Given the description of an element on the screen output the (x, y) to click on. 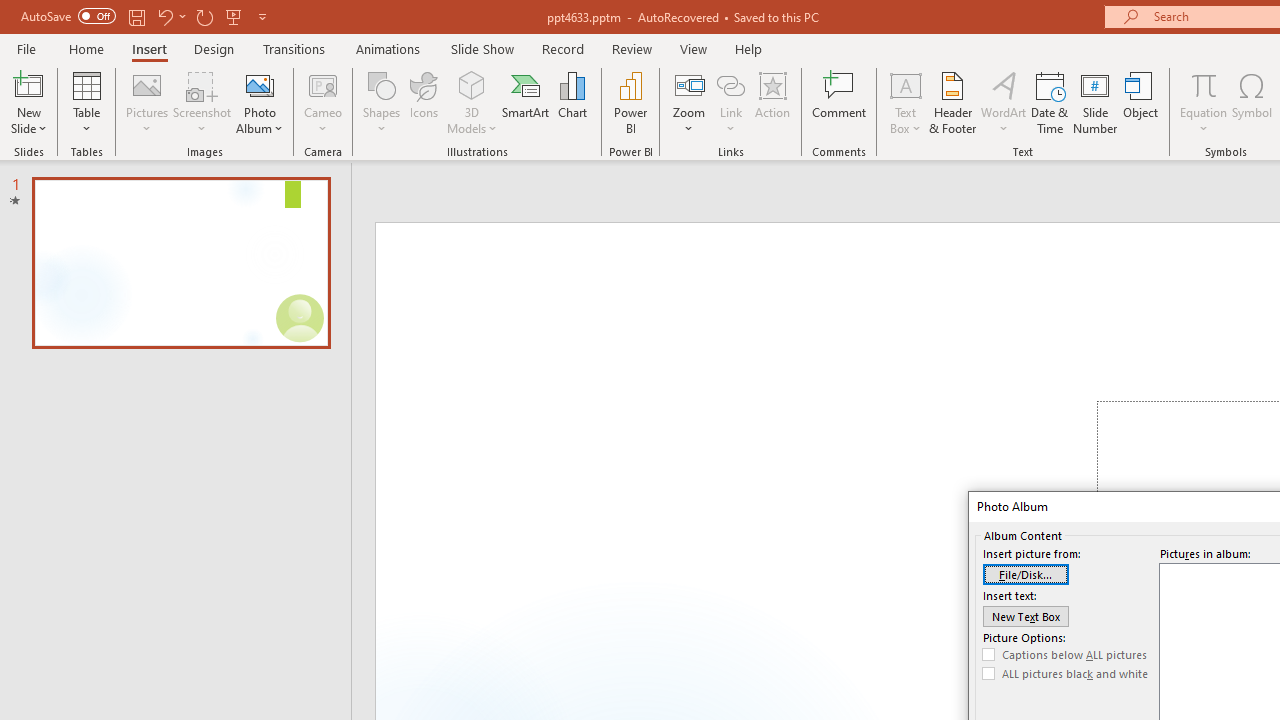
Symbol... (1252, 102)
Draw Horizontal Text Box (905, 84)
Slide Number (1095, 102)
Link (731, 102)
SmartArt... (525, 102)
Header & Footer... (952, 102)
WordArt (1004, 102)
